Given the description of an element on the screen output the (x, y) to click on. 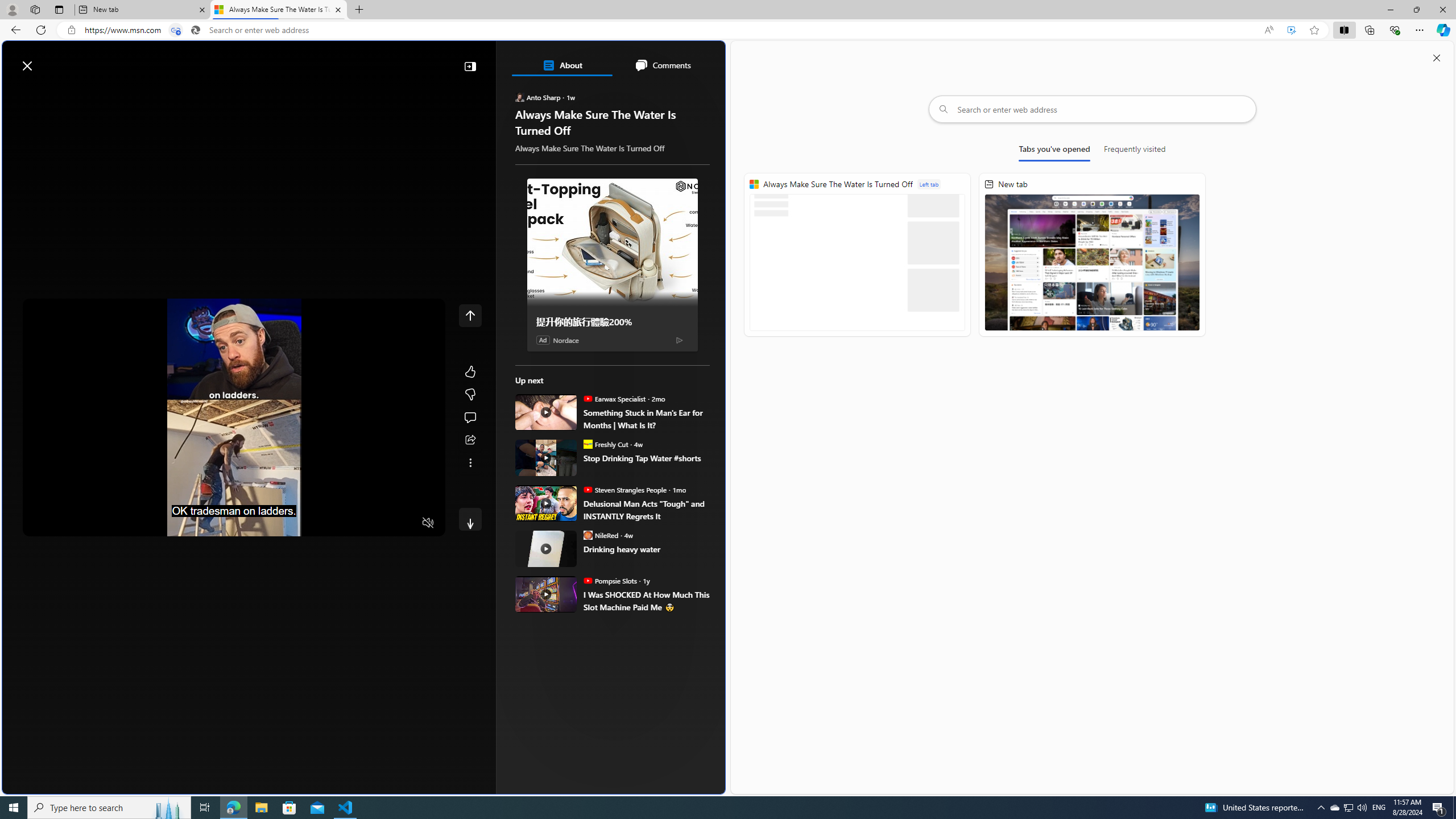
See more (469, 462)
Personal Profile (12, 9)
About (561, 64)
Drinking heavy water (545, 547)
Enter your search term (366, 59)
Tabs you've opened (1054, 151)
Web search (161, 60)
Class: control (469, 518)
Stop Drinking Tap Water #shorts (545, 456)
Always Make Sure The Water Is Turned Off (277, 9)
Minimize (1390, 9)
NileRed NileRed (600, 534)
Stop Drinking Tap Water #shorts (646, 457)
Notifications (676, 60)
